Given the description of an element on the screen output the (x, y) to click on. 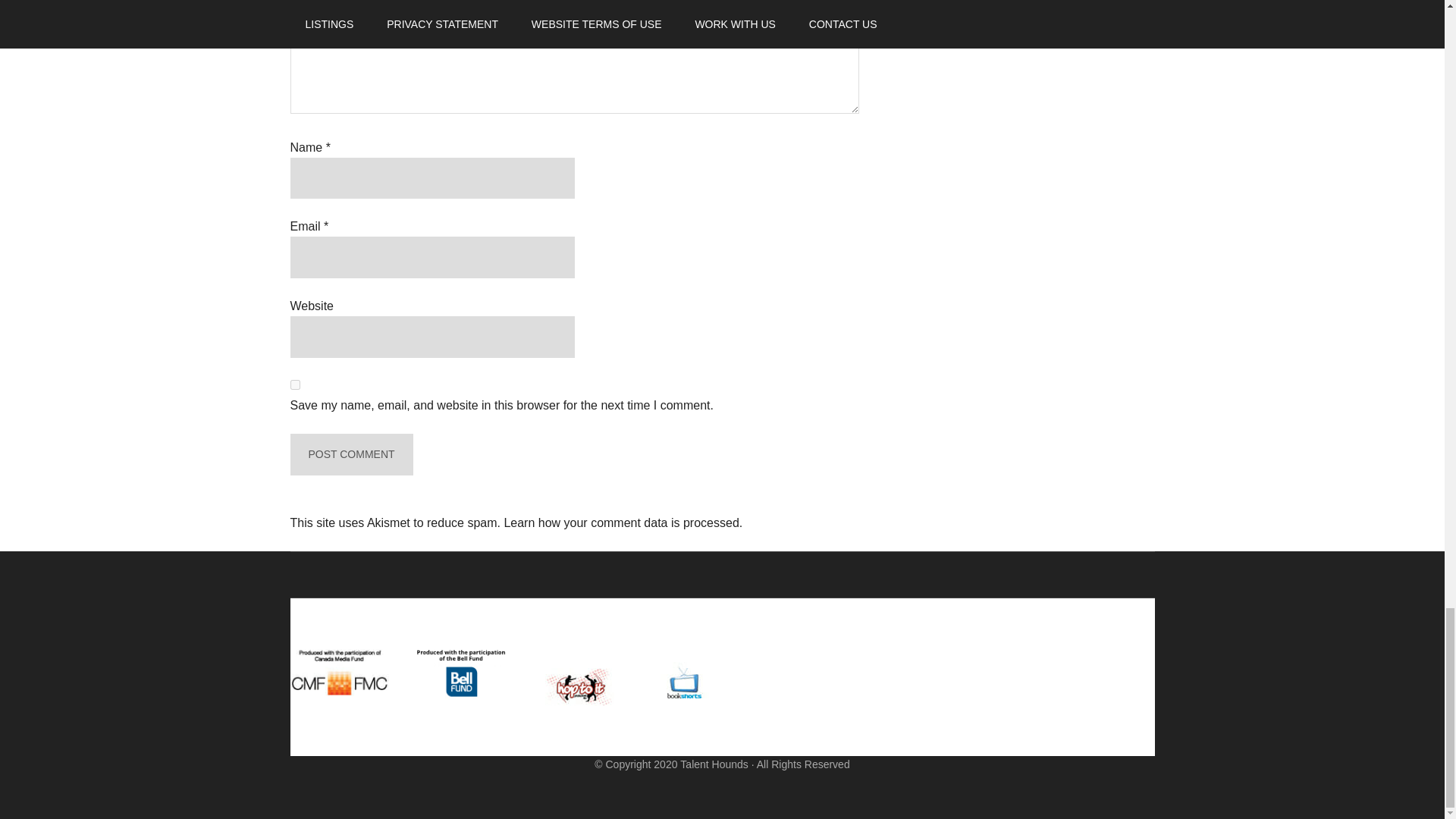
yes (294, 384)
Post Comment (350, 454)
